Given the description of an element on the screen output the (x, y) to click on. 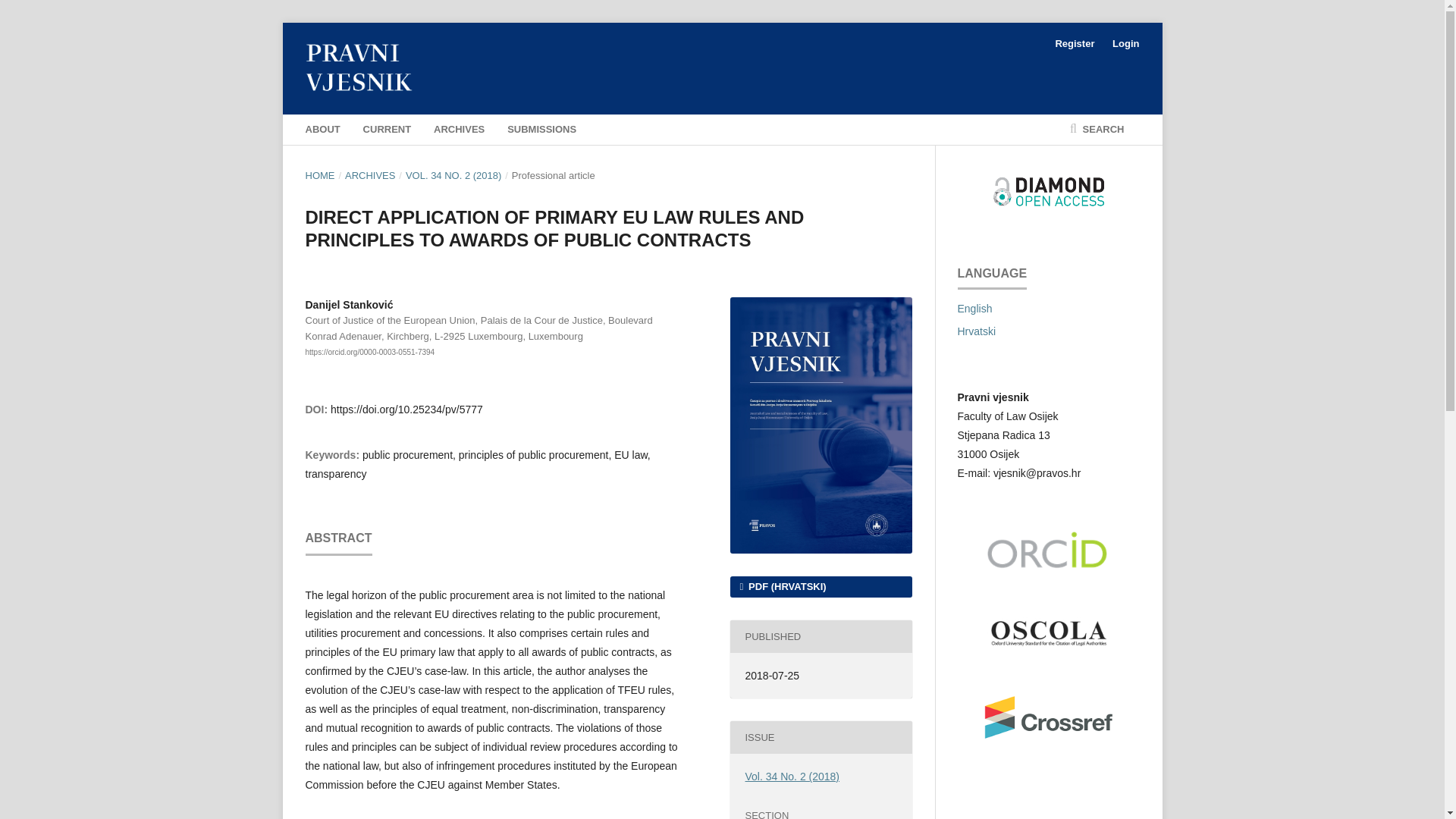
Login (1121, 43)
Register (1074, 43)
SEARCH (1096, 129)
English (973, 308)
ARCHIVES (369, 175)
HOME (319, 175)
CURRENT (387, 129)
SUBMISSIONS (541, 129)
ABOUT (321, 129)
ARCHIVES (458, 129)
